Given the description of an element on the screen output the (x, y) to click on. 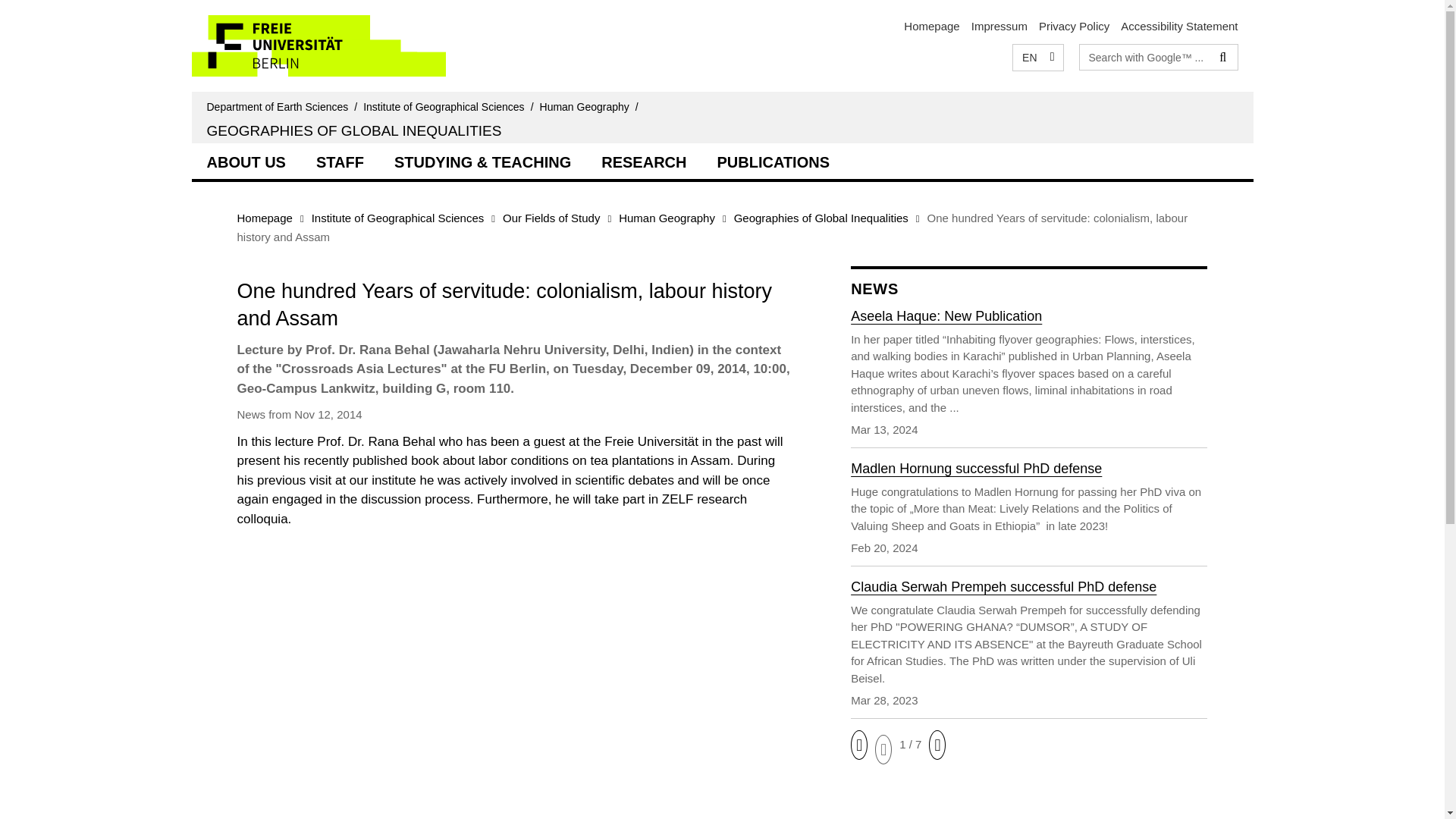
To the Homepage of:  Geographies of Global Inequalities (353, 130)
Homepage (263, 216)
To the Homepage of:  (284, 106)
GEOGRAPHIES OF GLOBAL INEQUALITIES (353, 130)
ABOUT US (244, 160)
Homepage (931, 25)
Institute of Geographical Sciences (397, 216)
RESEARCH (643, 160)
To the Homepage of:  (592, 106)
Our Fields of Study (550, 216)
